Given the description of an element on the screen output the (x, y) to click on. 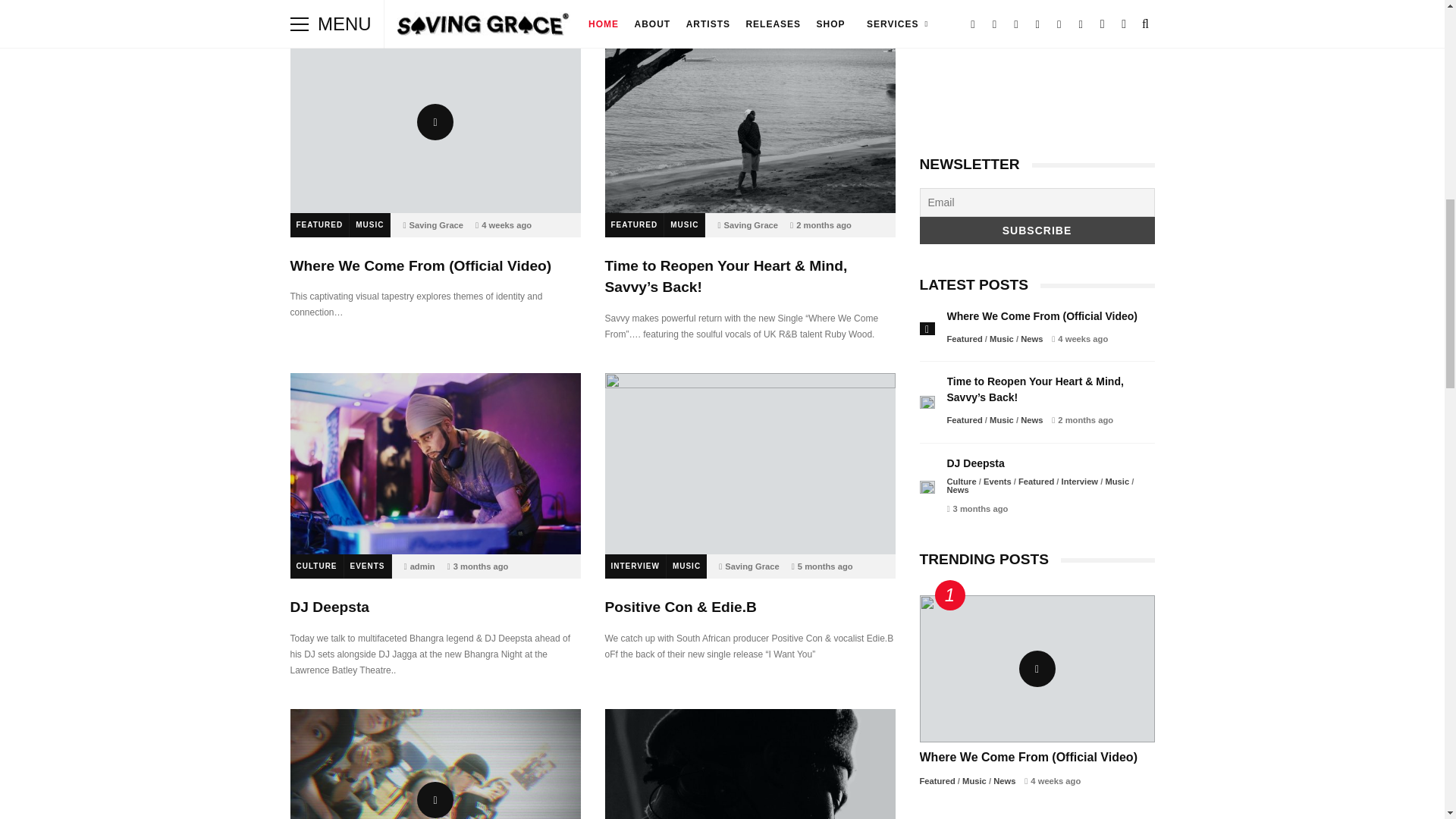
Spotify Embed: Saving Grace Releases (1036, 73)
Posts by admin (422, 565)
Posts by Saving Grace (750, 225)
Subscribe (1036, 230)
Scroll To Top (1422, 20)
Posts by Saving Grace (751, 565)
Posts by Saving Grace (436, 225)
